Given the description of an element on the screen output the (x, y) to click on. 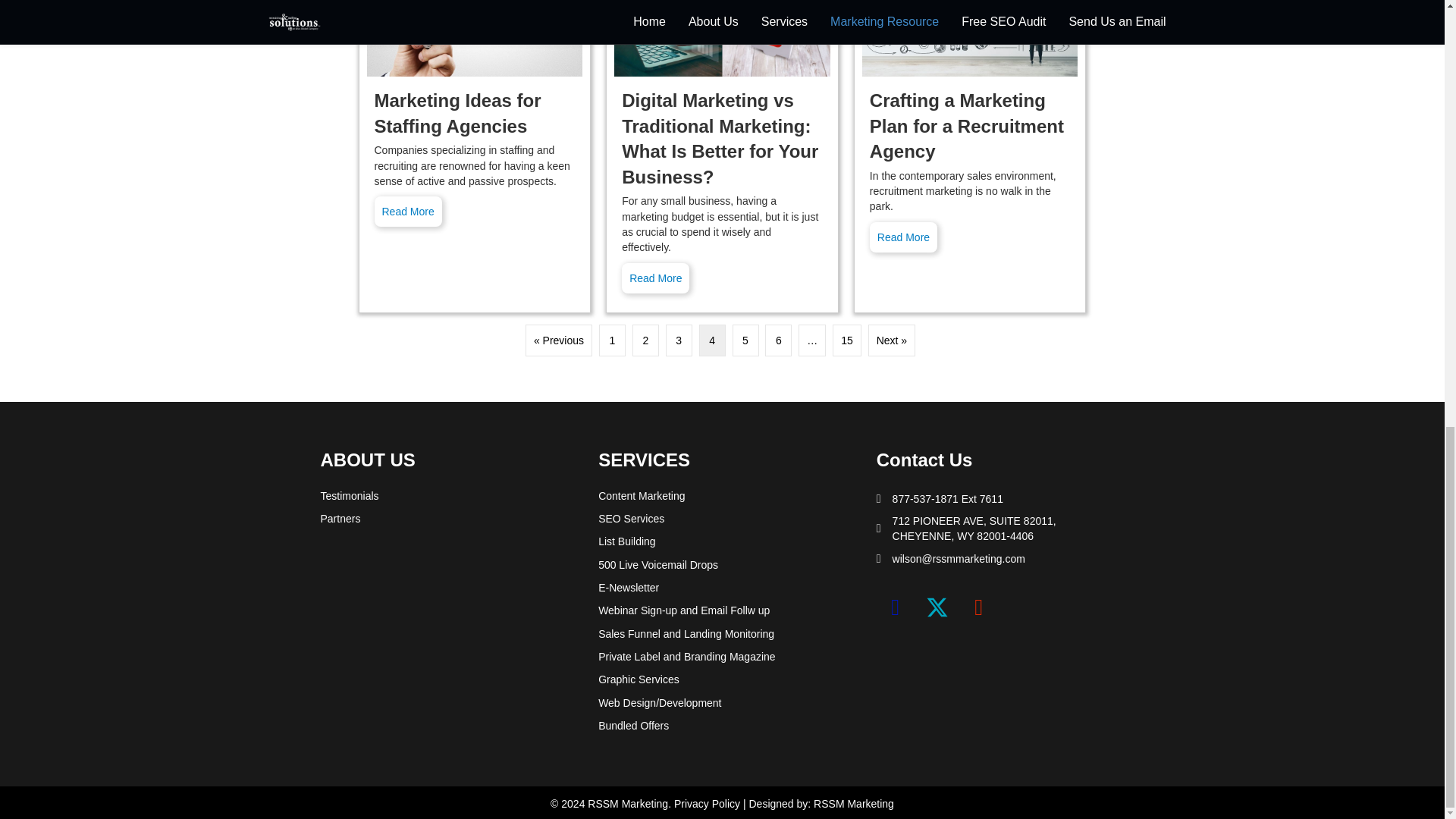
Marketing Ideas for Staffing Agencies (408, 211)
Marketing Ideas for Staffing Agencies (474, 38)
Marketing Ideas for Staffing Agencies (457, 113)
